Given the description of an element on the screen output the (x, y) to click on. 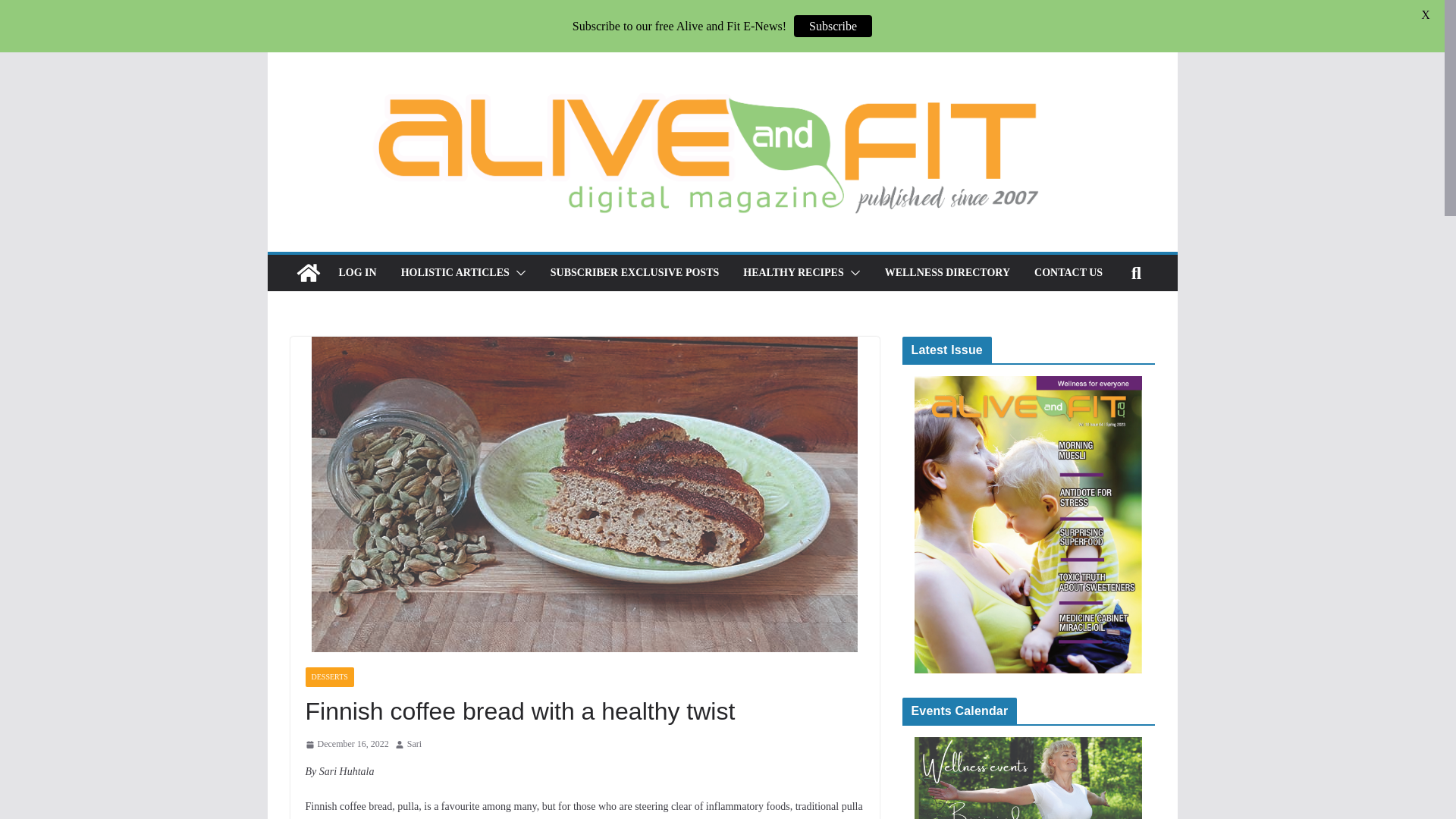
DESSERTS (328, 677)
CONTACT US (1067, 272)
8:18 AM (346, 744)
SUBSCRIBER EXCLUSIVE POSTS (634, 272)
HOLISTIC ARTICLES (455, 272)
HEALTHY RECIPES (792, 272)
December 16, 2022 (346, 744)
LOG IN (356, 272)
WELLNESS DIRECTORY (947, 272)
